Given the description of an element on the screen output the (x, y) to click on. 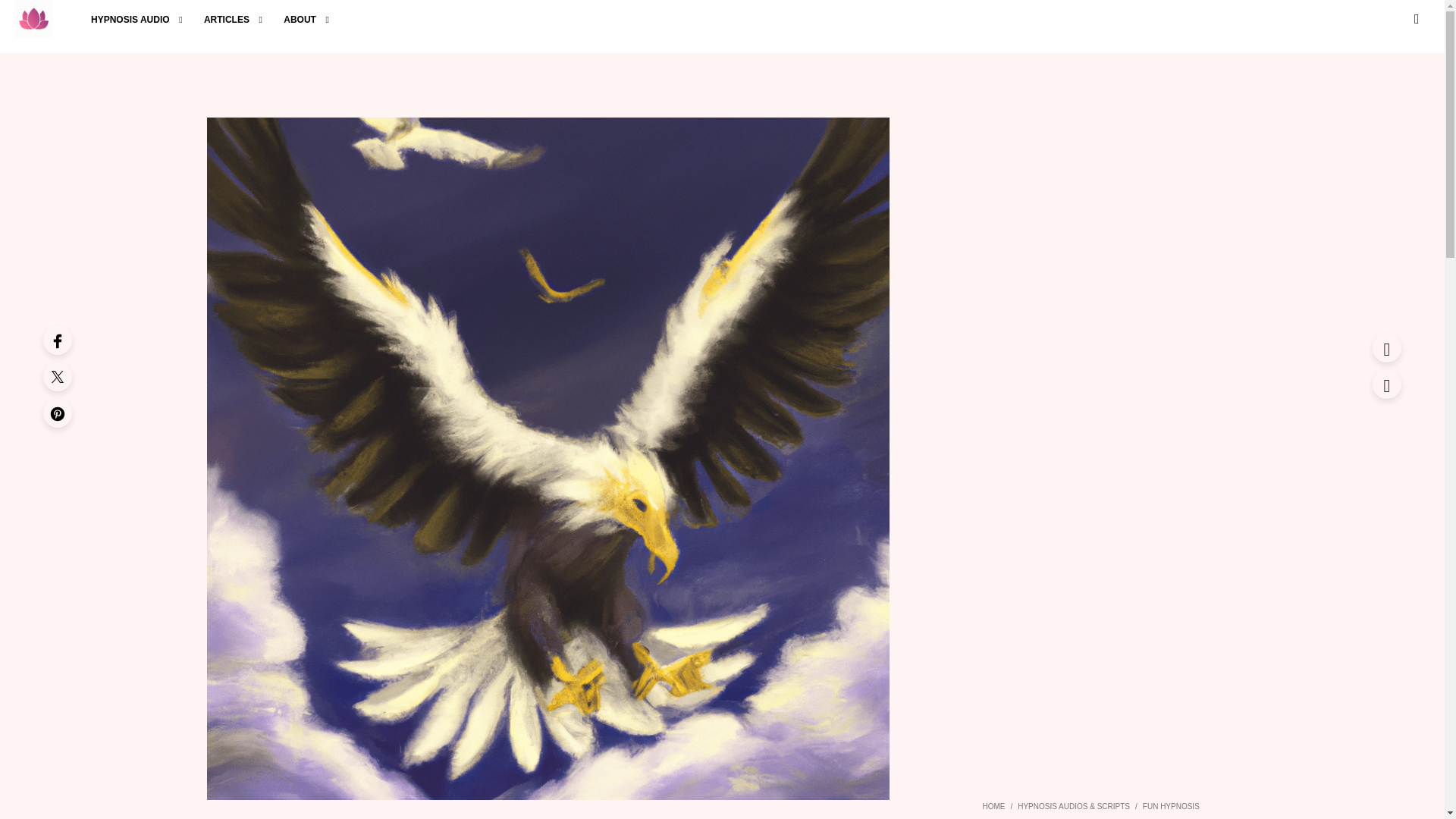
HYPNOSIS AUDIO (130, 19)
